Given the description of an element on the screen output the (x, y) to click on. 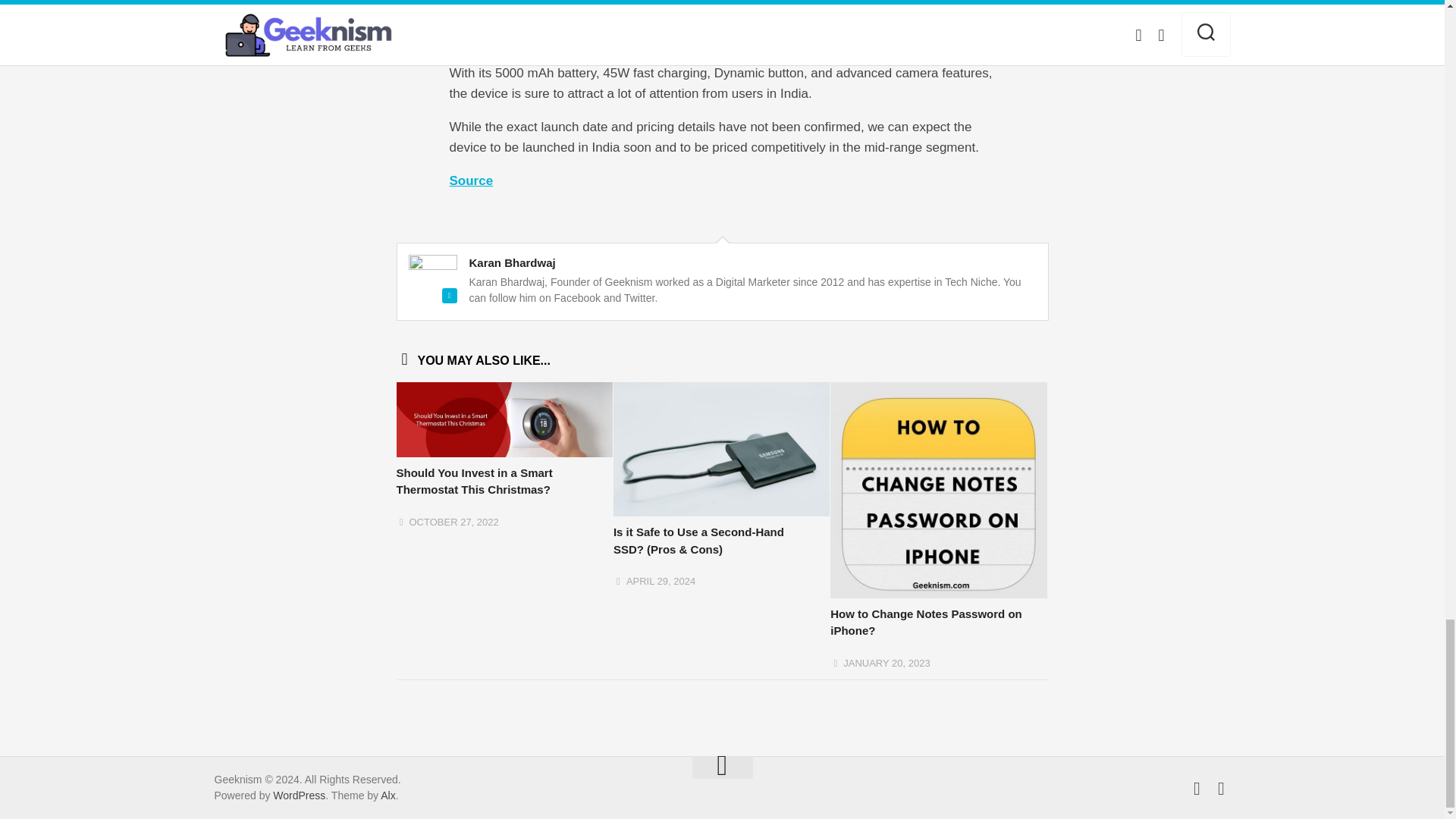
Alx (387, 795)
Facebook (1220, 788)
Should You Invest in a Smart Thermostat This Christmas? (473, 481)
WordPress (298, 795)
Source (470, 180)
Twitter (1196, 788)
How to Change Notes Password on iPhone? (925, 622)
